Given the description of an element on the screen output the (x, y) to click on. 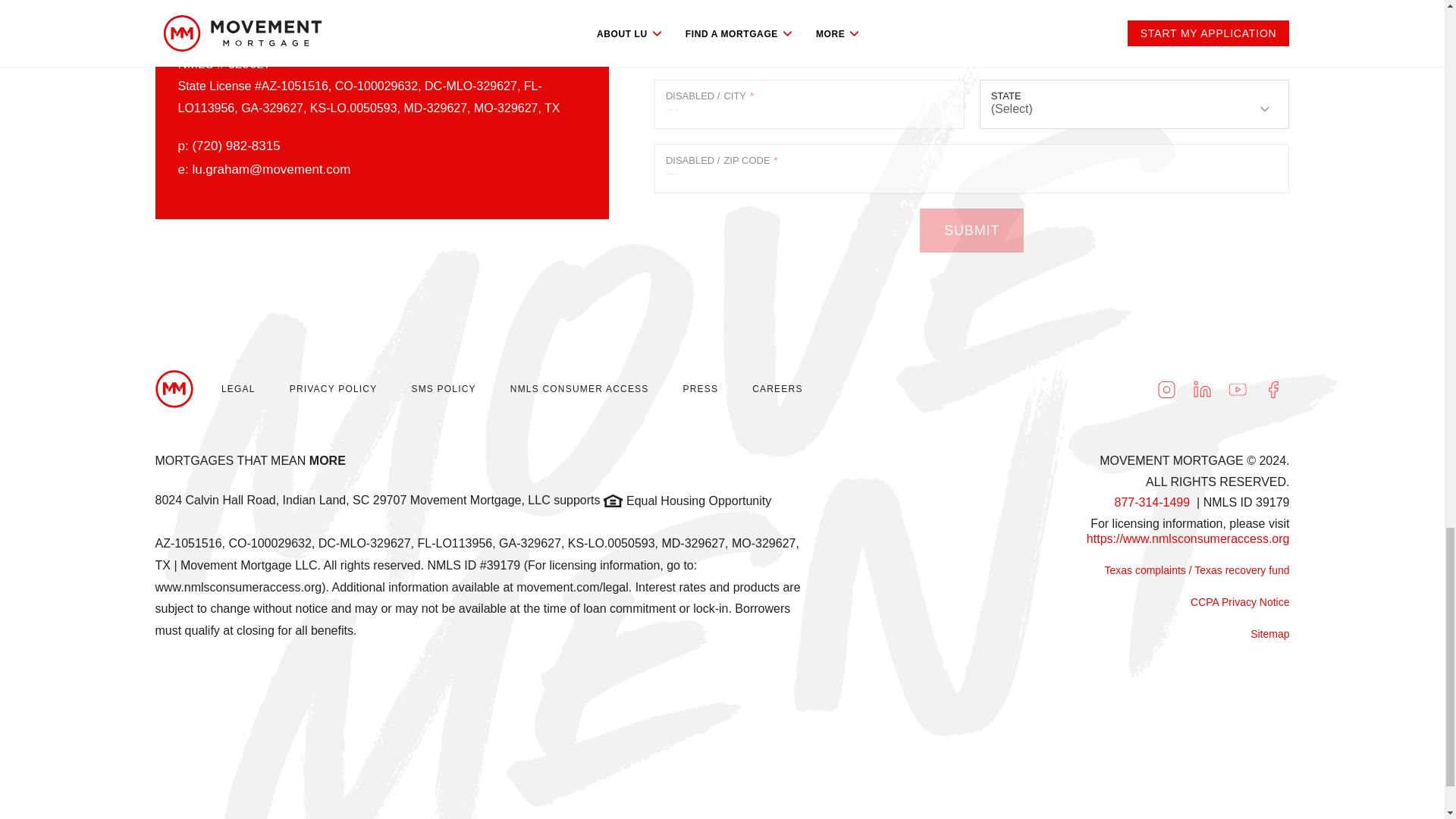
Submit (971, 230)
